Given the description of an element on the screen output the (x, y) to click on. 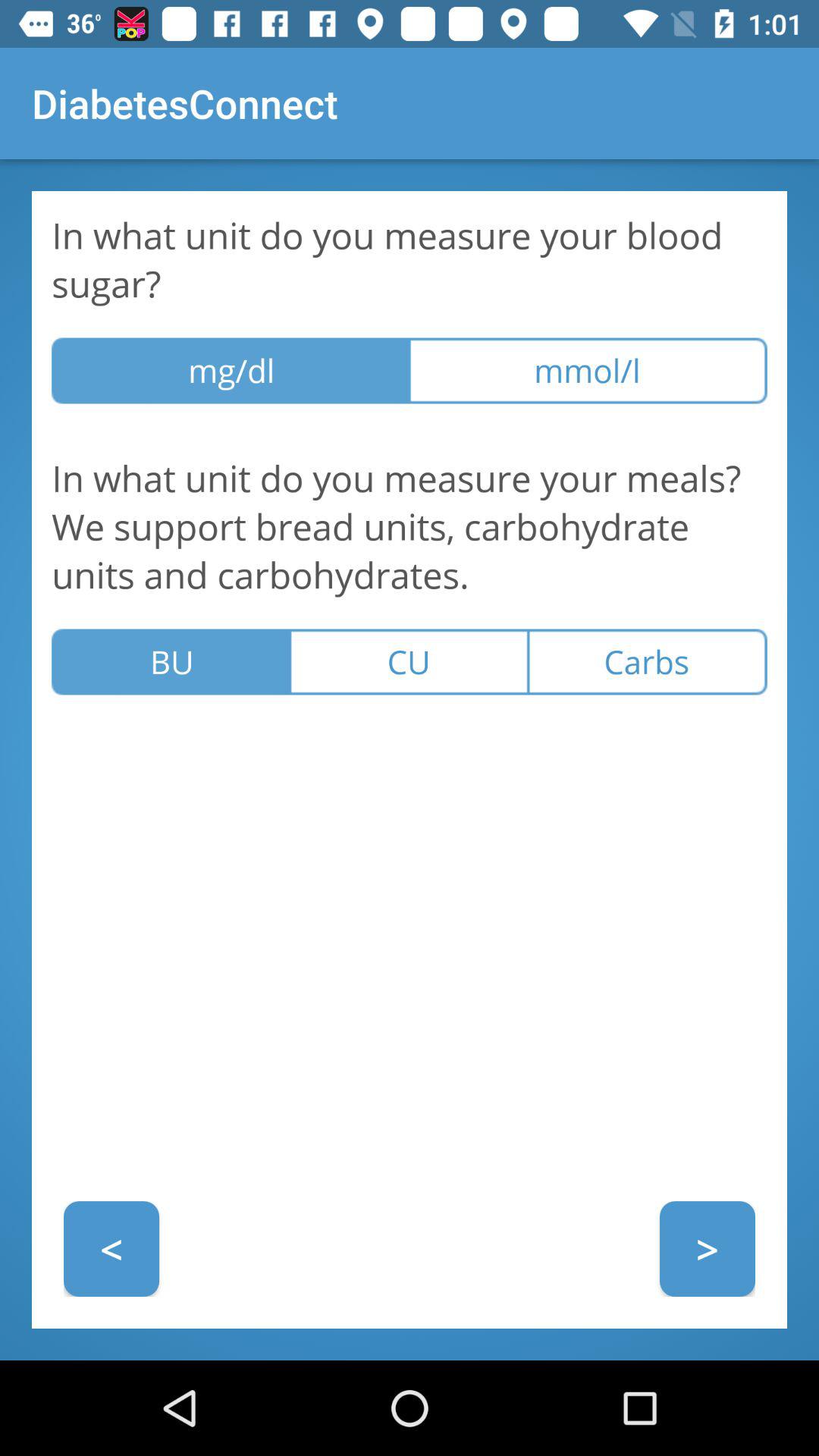
turn on the icon next to the cu (647, 662)
